Given the description of an element on the screen output the (x, y) to click on. 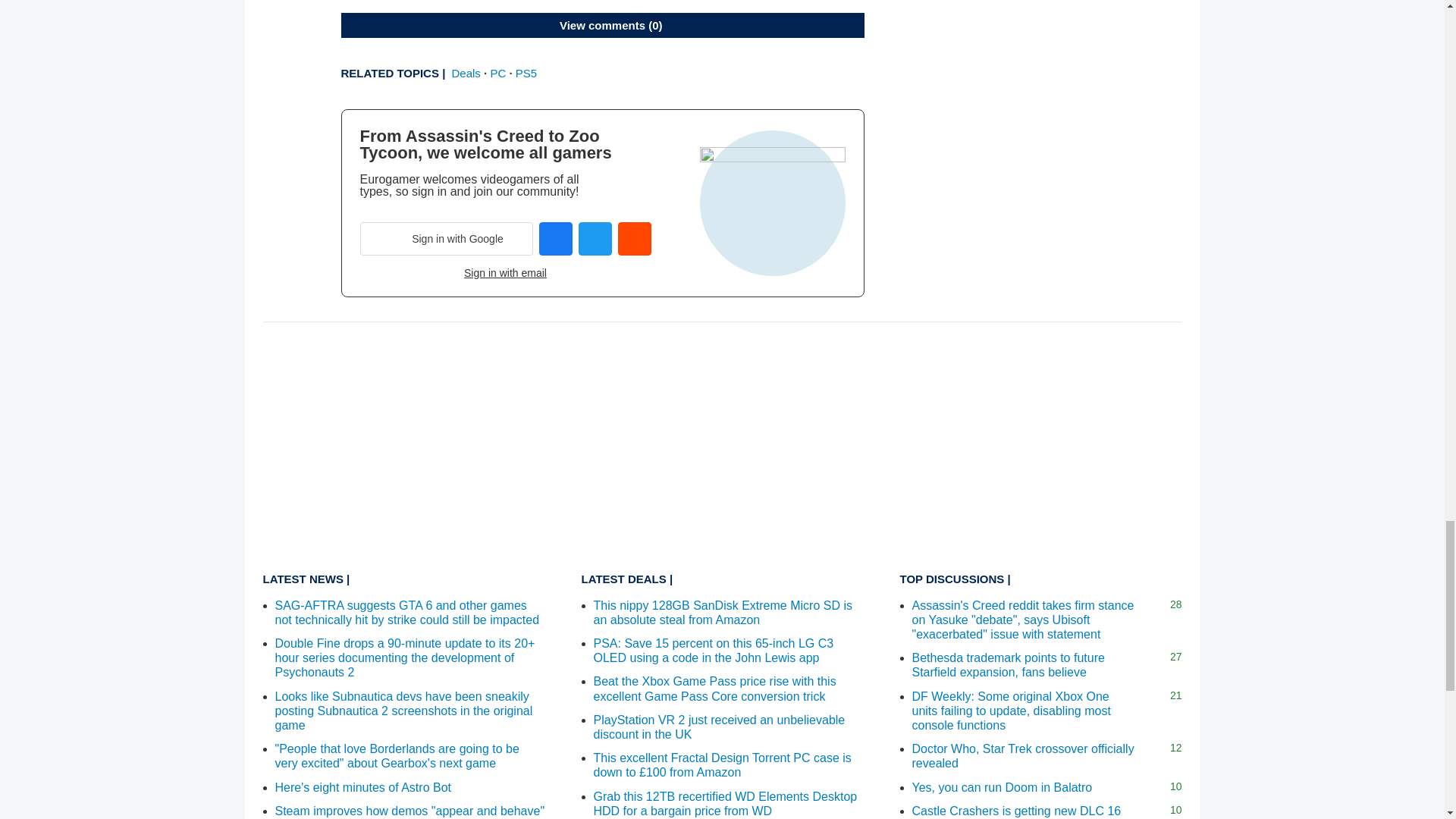
Sign in with Google (445, 238)
Deals (465, 72)
